Given the description of an element on the screen output the (x, y) to click on. 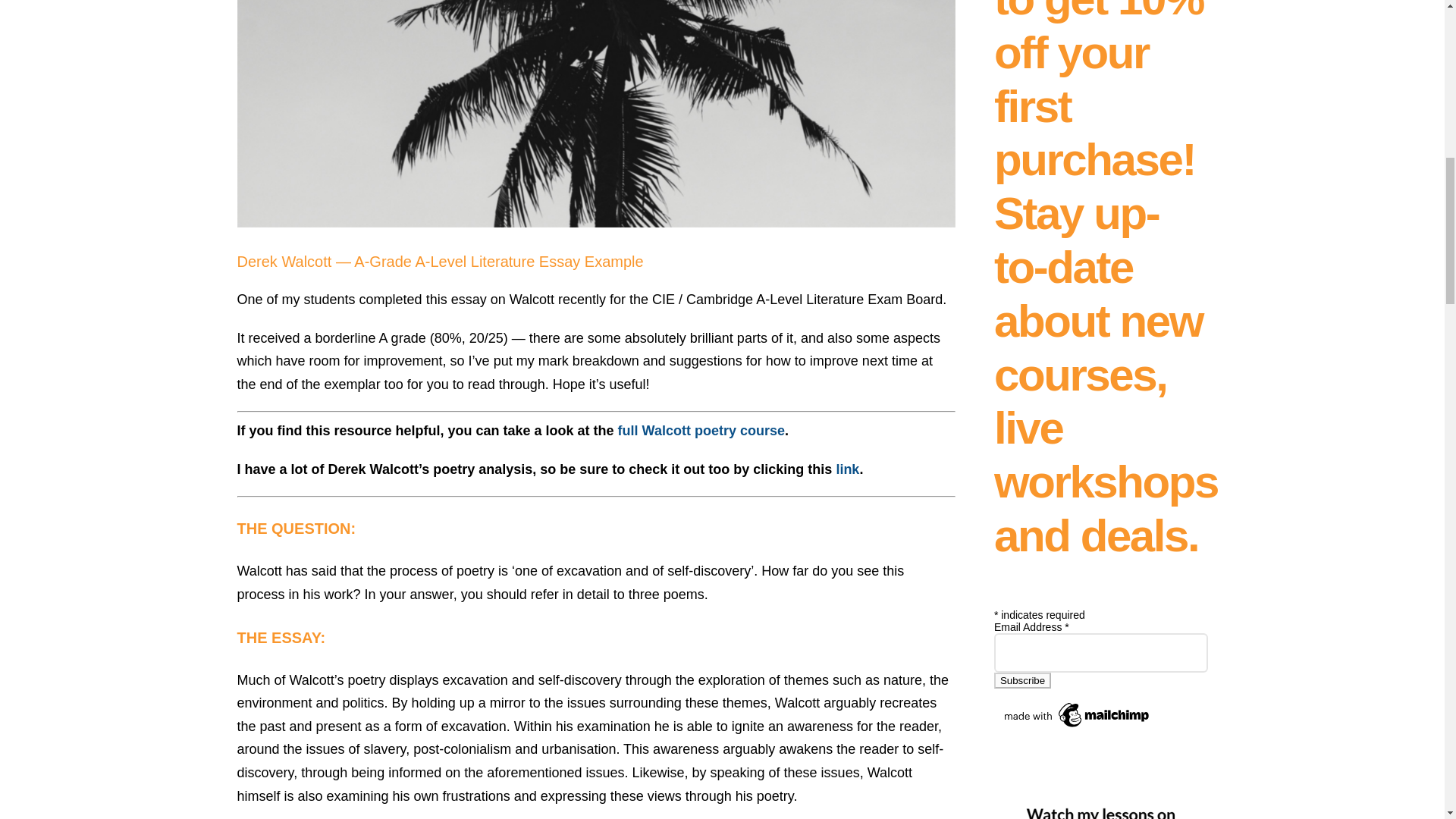
Subscribe (1022, 680)
link (847, 468)
full Walcott poetry course (700, 430)
